Given the description of an element on the screen output the (x, y) to click on. 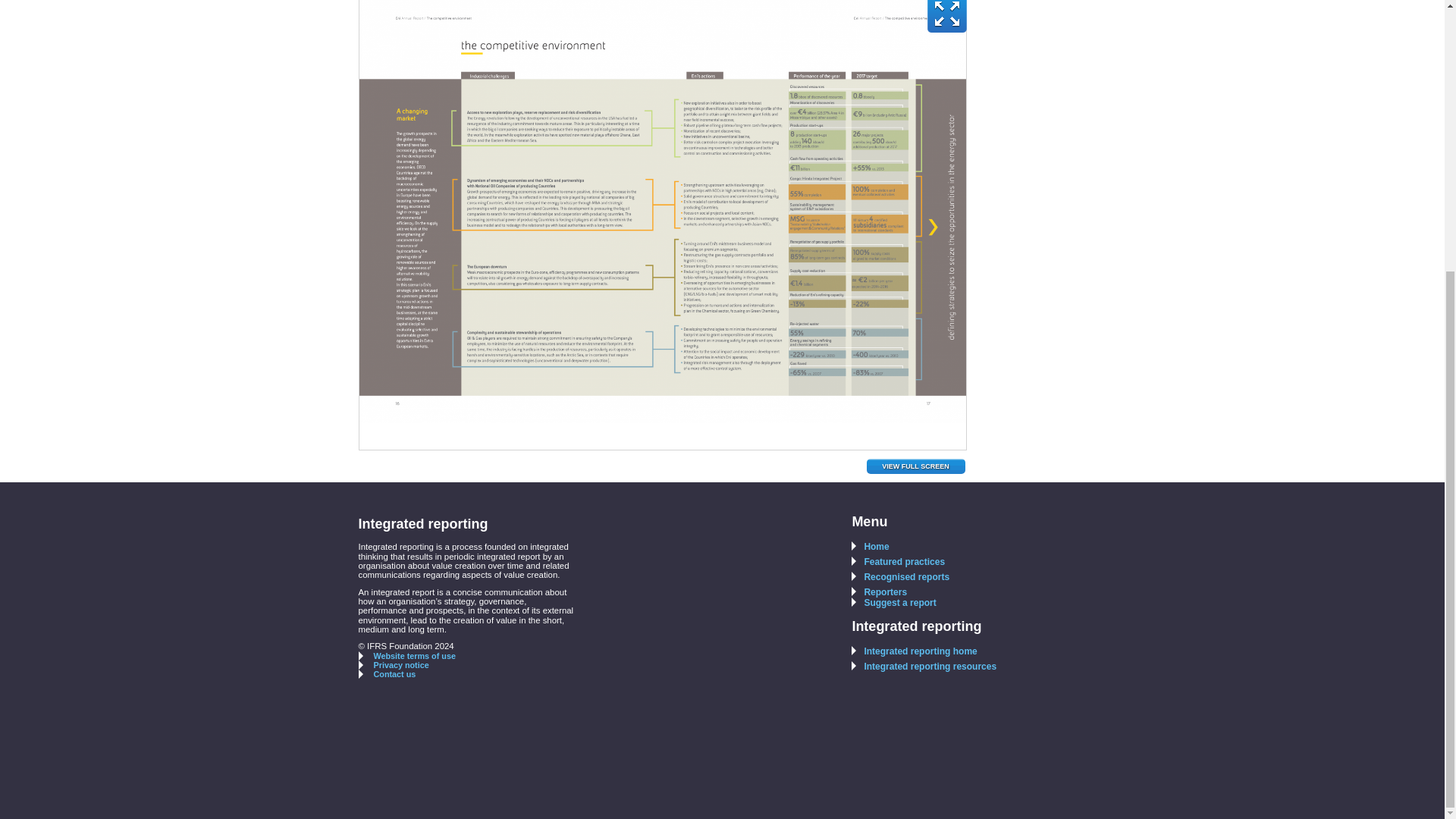
Contact us (386, 673)
Integrated reporting home (913, 651)
Menu (868, 521)
Recognised reports (900, 576)
Integrated reporting resources (923, 665)
Privacy notice (393, 664)
Reporters (879, 592)
Integrated reporting (916, 626)
Website terms of use (406, 655)
Featured practices (897, 561)
Suggest a report (893, 602)
Home (869, 546)
VIEW FULL SCREEN (914, 466)
